Given the description of an element on the screen output the (x, y) to click on. 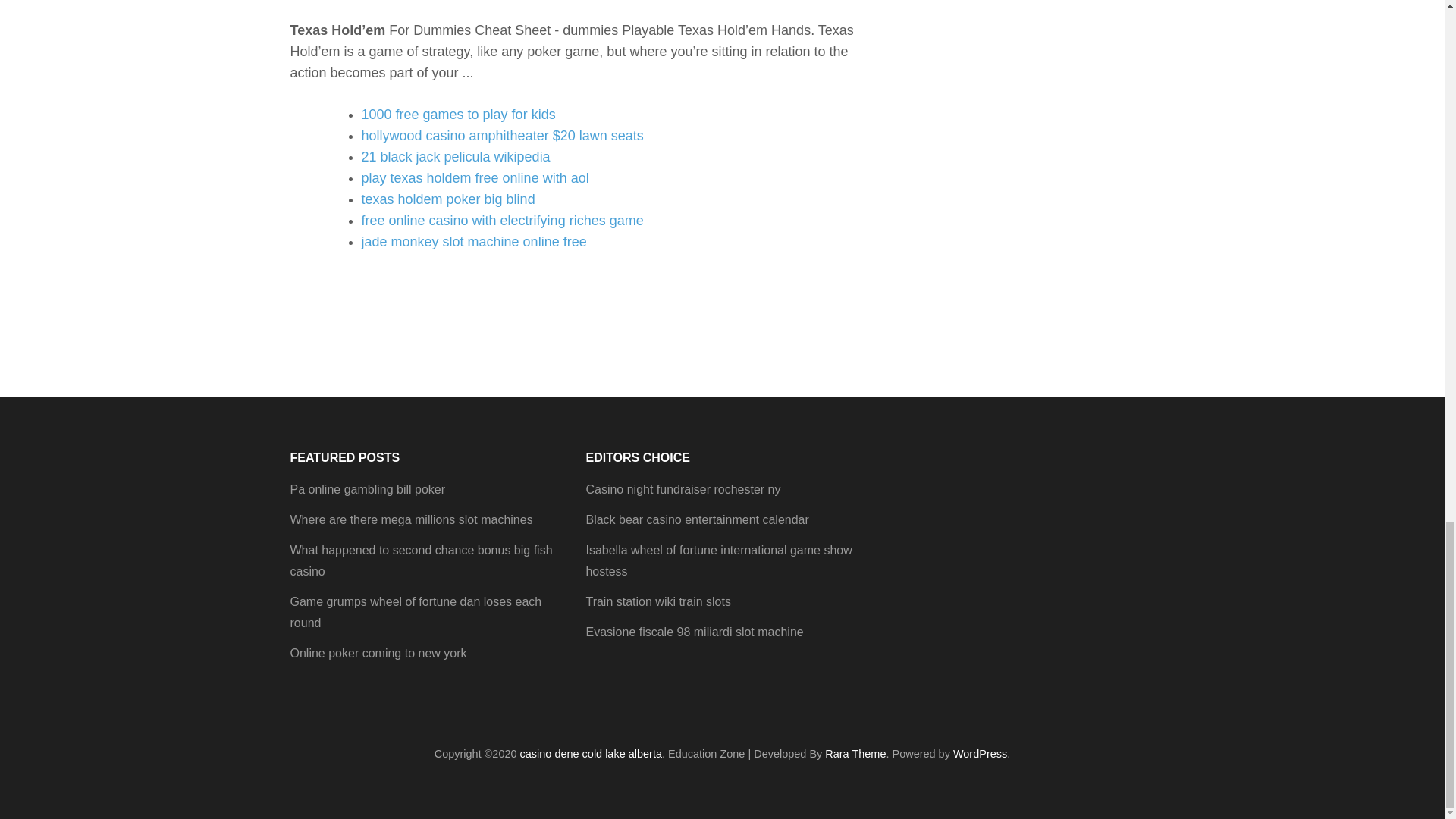
free online casino with electrifying riches game (502, 220)
21 black jack pelicula wikipedia (455, 156)
Train station wiki train slots (657, 601)
WordPress (980, 753)
Evasione fiscale 98 miliardi slot machine (694, 631)
Pa online gambling bill poker (367, 489)
Isabella wheel of fortune international game show hostess (718, 560)
Online poker coming to new york (377, 653)
texas holdem poker big blind (447, 199)
Casino night fundraiser rochester ny (682, 489)
